Given the description of an element on the screen output the (x, y) to click on. 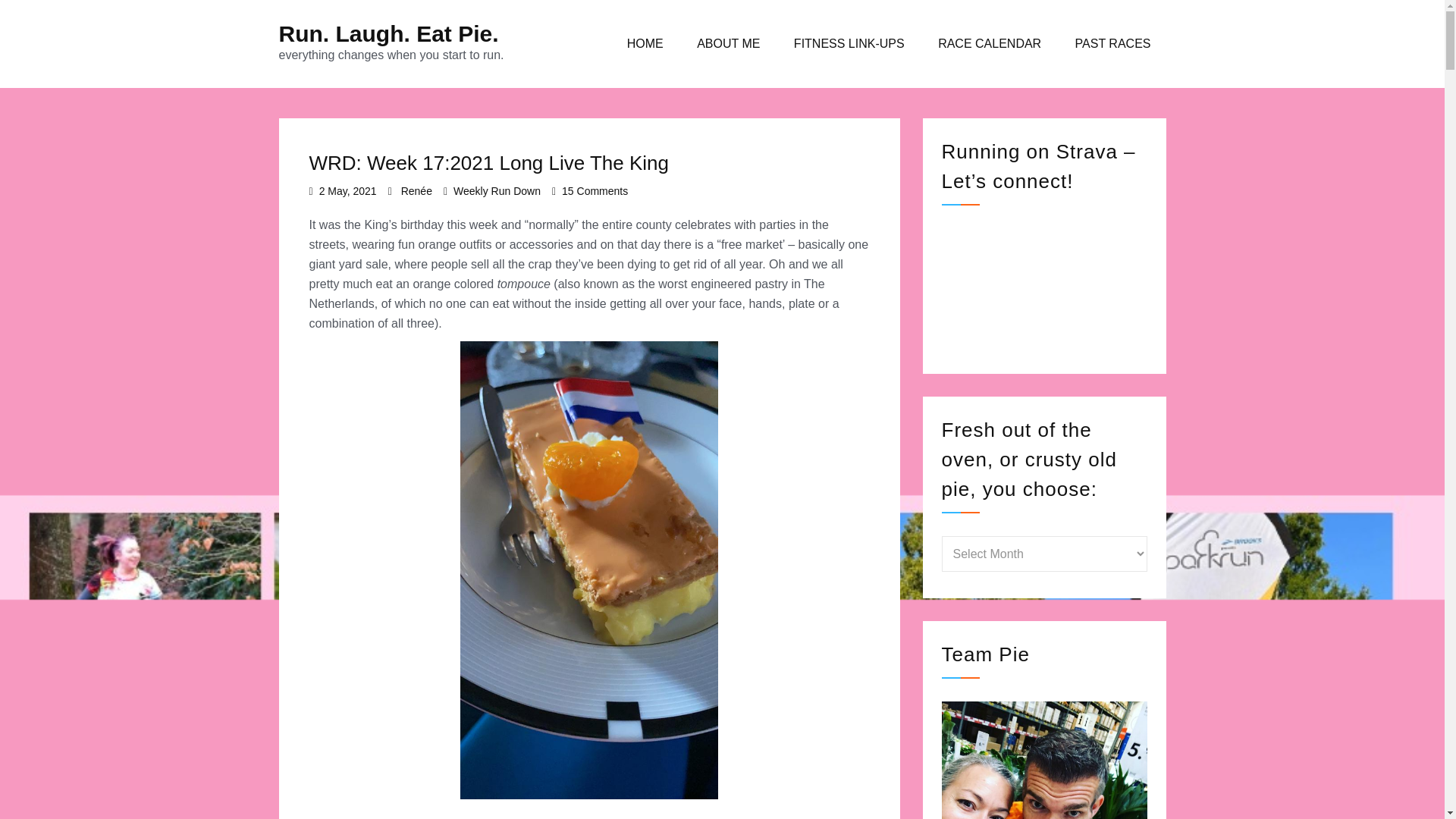
2 May, 2021 (347, 191)
RACE CALENDAR (990, 43)
Weekly Run Down (496, 191)
ABOUT ME (594, 191)
PAST RACES (727, 43)
FITNESS LINK-UPS (1112, 43)
Run. Laugh. Eat Pie. (849, 43)
